Given the description of an element on the screen output the (x, y) to click on. 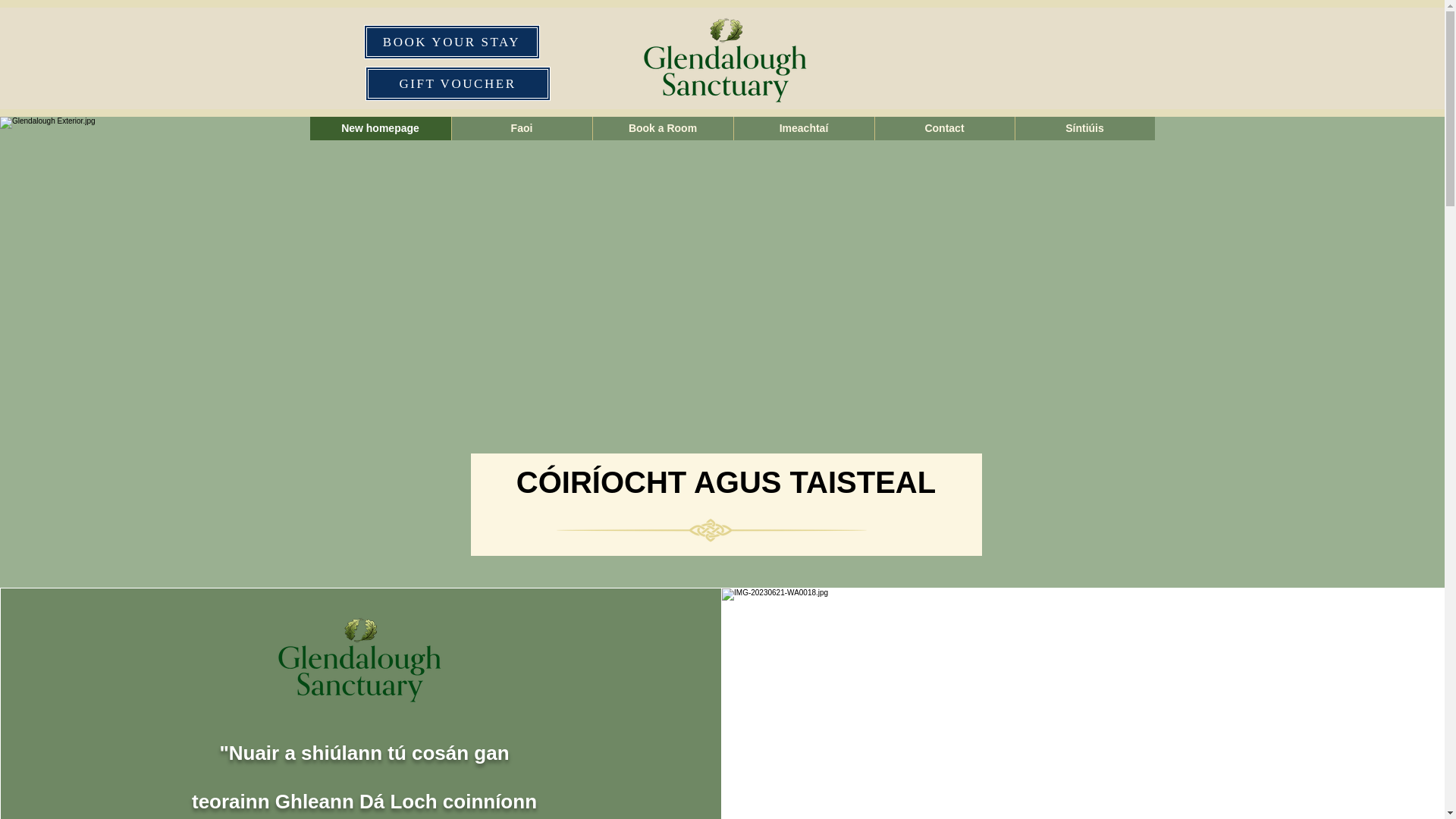
New homepage (378, 128)
Book a Room (661, 128)
BOOK YOUR STAY (452, 41)
Contact (943, 128)
Faoi (520, 128)
GIFT VOUCHER (457, 83)
